Given the description of an element on the screen output the (x, y) to click on. 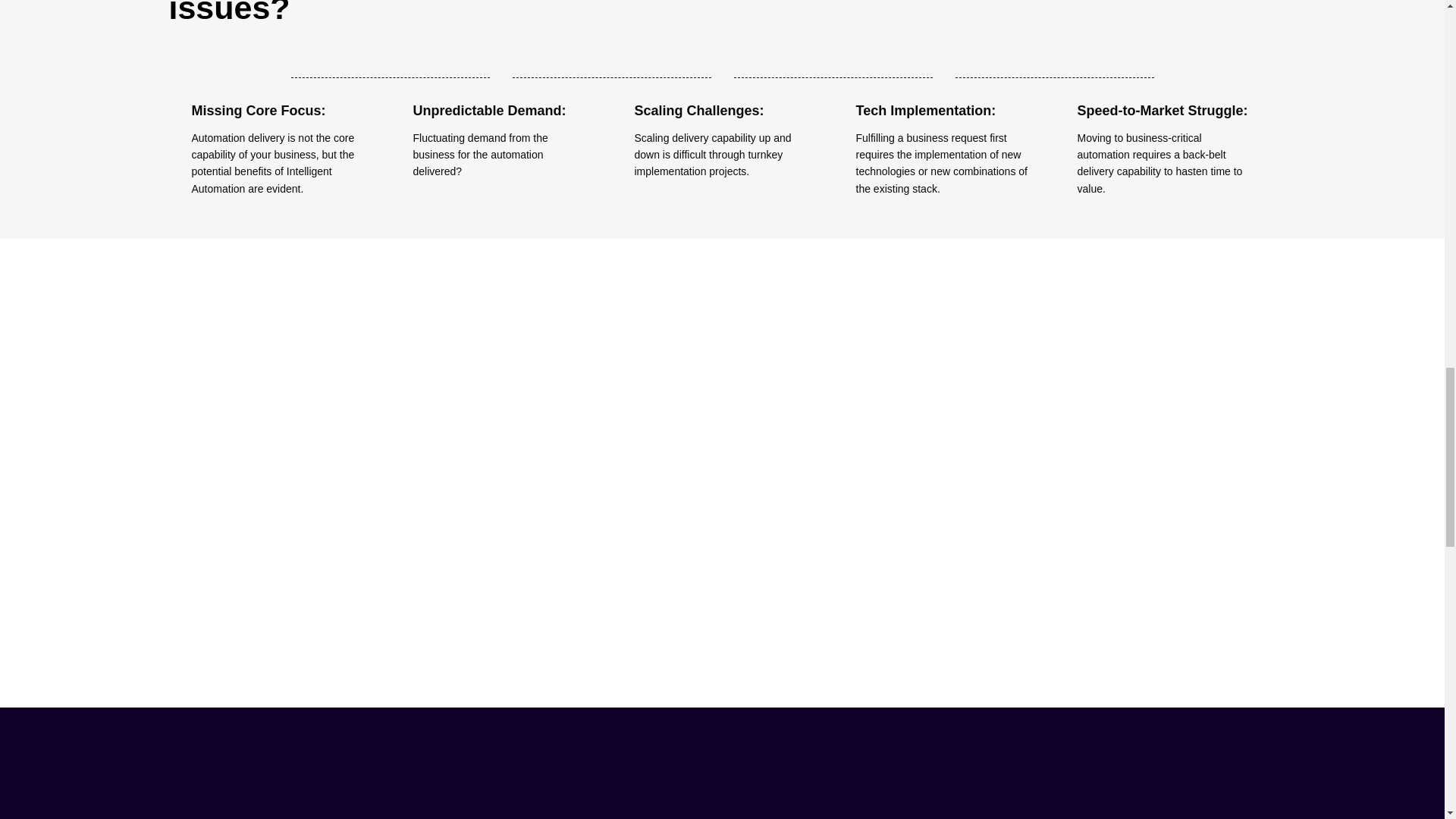
iss002 (500, 77)
hu01 (1100, 467)
iss001 (279, 77)
iss02 (944, 77)
si02 (342, 467)
iss005 (1165, 77)
wi01 (721, 467)
iss003 (722, 77)
